Given the description of an element on the screen output the (x, y) to click on. 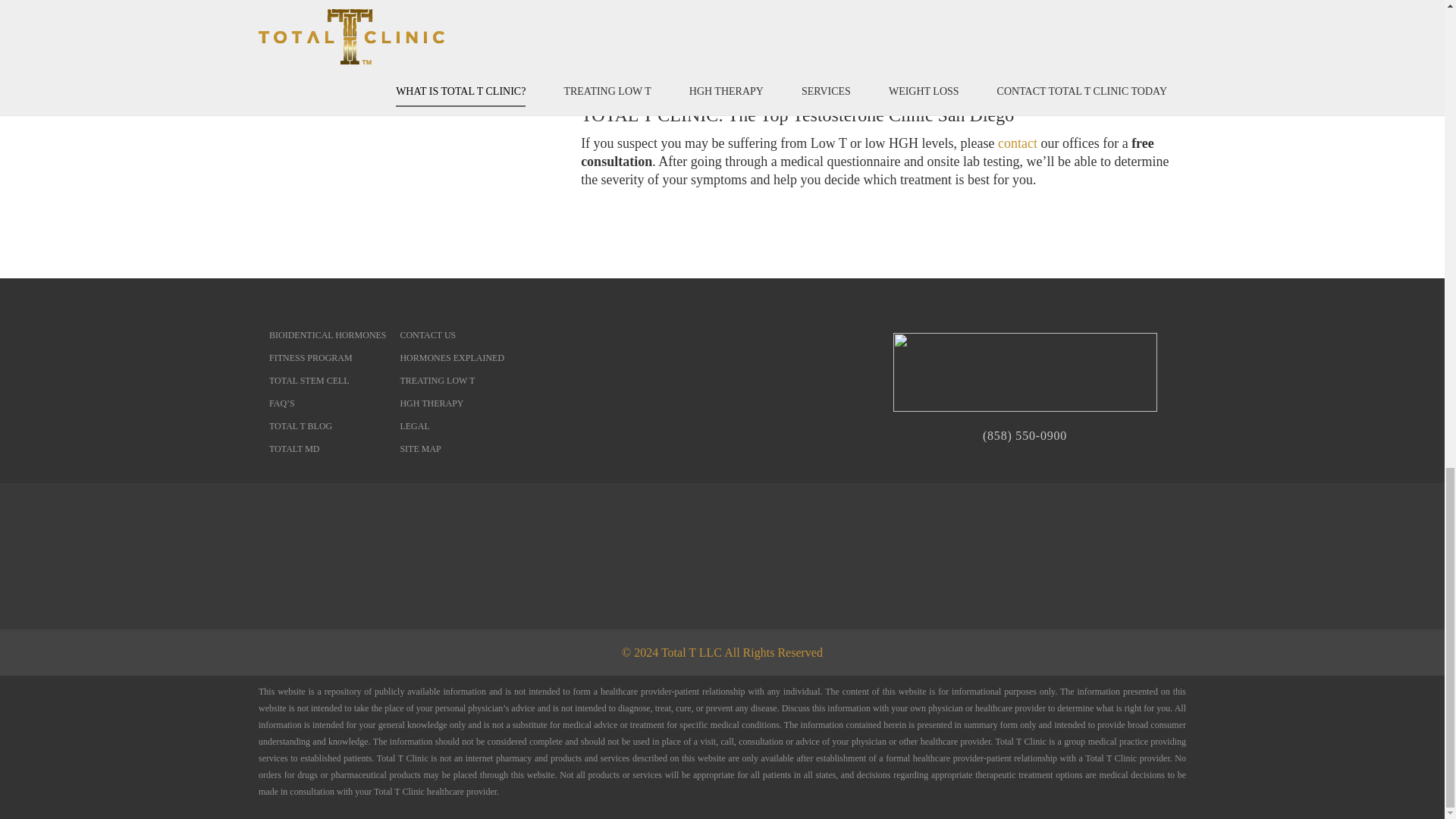
FITNESS PROGRAM (310, 357)
CONTACT US (426, 335)
LEGAL (413, 425)
HORMONES EXPLAINED (450, 357)
TOTAL STEM CELL (309, 380)
TREATING LOW T (436, 380)
TOTALT MD (294, 448)
TOTAL T BLOG (300, 425)
HGH THERAPY (430, 403)
contact (1016, 142)
BIOIDENTICAL HORMONES (328, 335)
SITE MAP (419, 448)
